Given the description of an element on the screen output the (x, y) to click on. 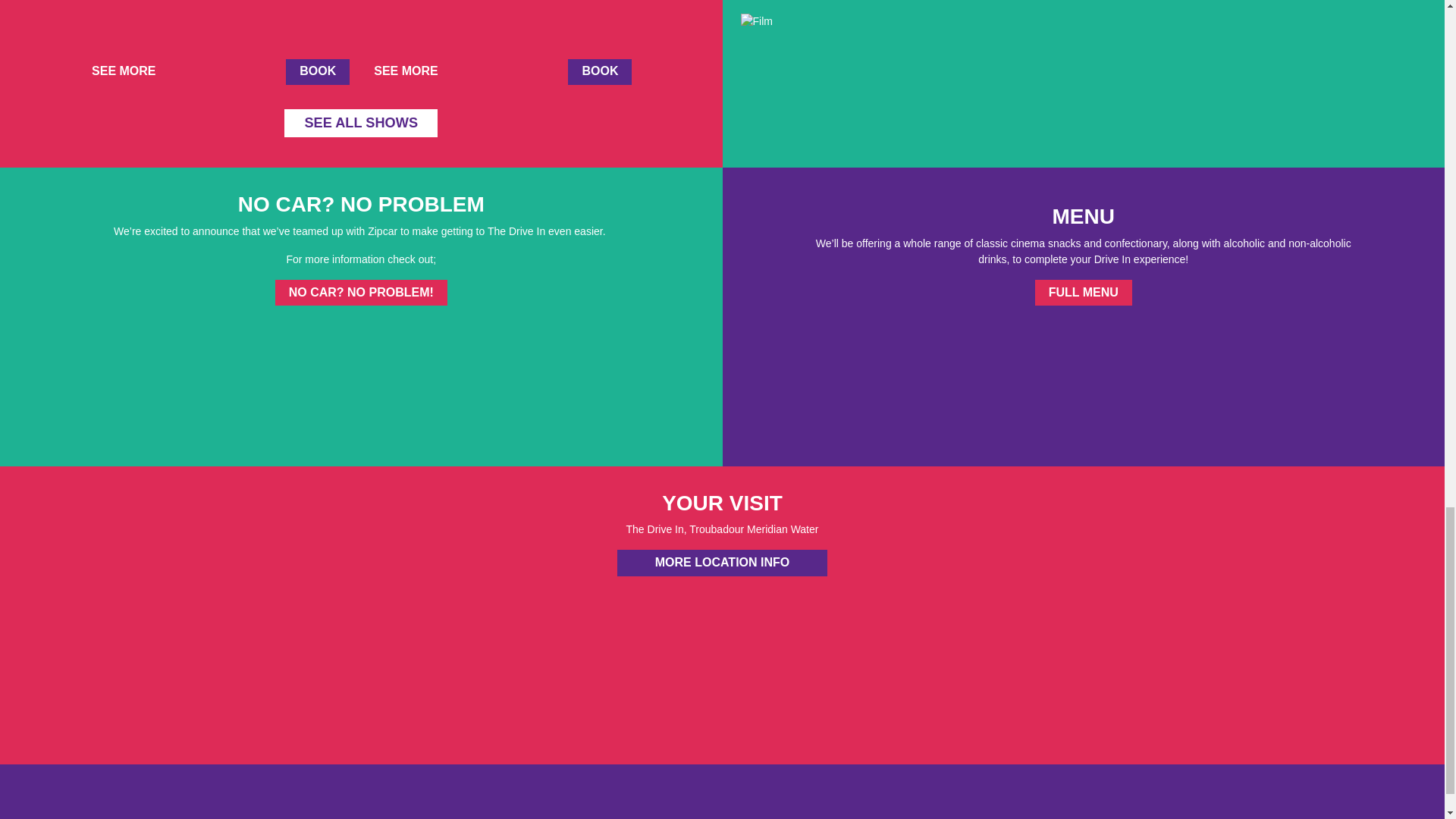
BOOK (599, 71)
BOOK (317, 71)
SEE MORE (129, 71)
SEE ALL SHOWS (360, 122)
FULL MENU (1083, 292)
MORE LOCATION INFO (722, 562)
NO CAR? NO PROBLEM! (360, 292)
SEE MORE (411, 71)
